Given the description of an element on the screen output the (x, y) to click on. 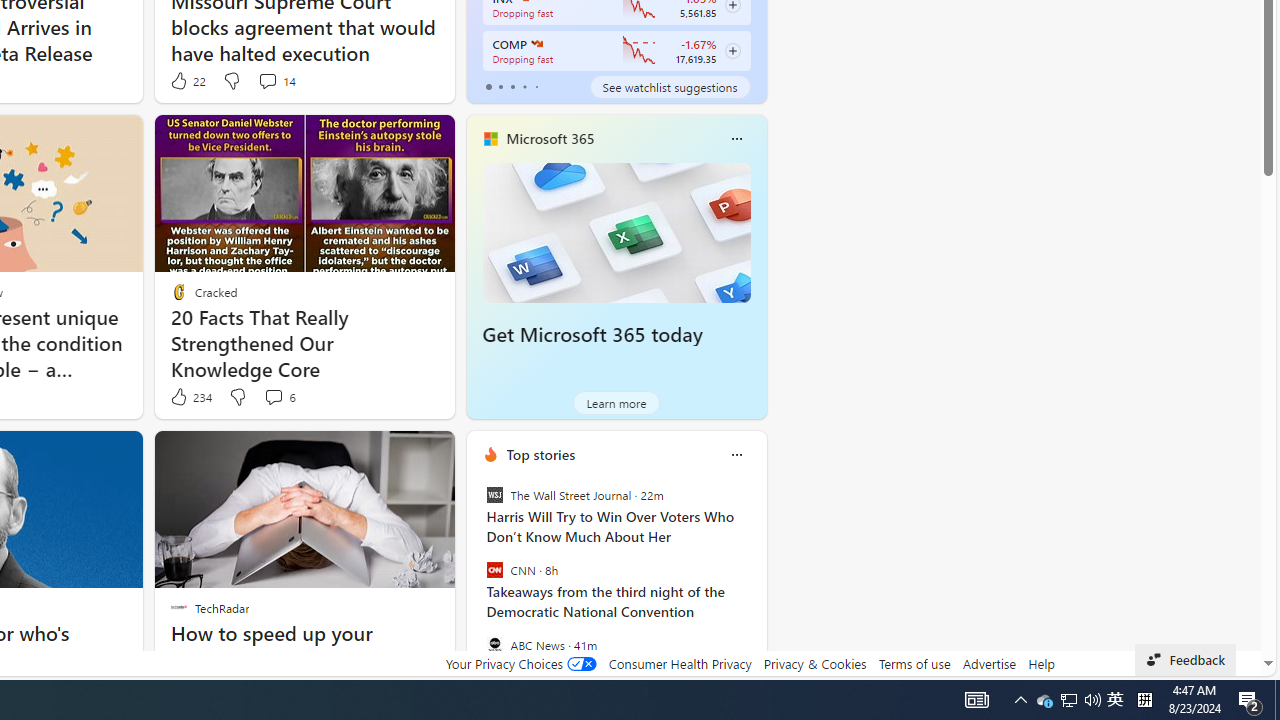
Top stories (540, 454)
NASDAQ (535, 43)
next (756, 583)
Get Microsoft 365 today (616, 232)
View comments 14 Comment (276, 80)
Get Microsoft 365 today (592, 335)
View comments 6 Comment (273, 396)
View comments 14 Comment (267, 80)
